Given the description of an element on the screen output the (x, y) to click on. 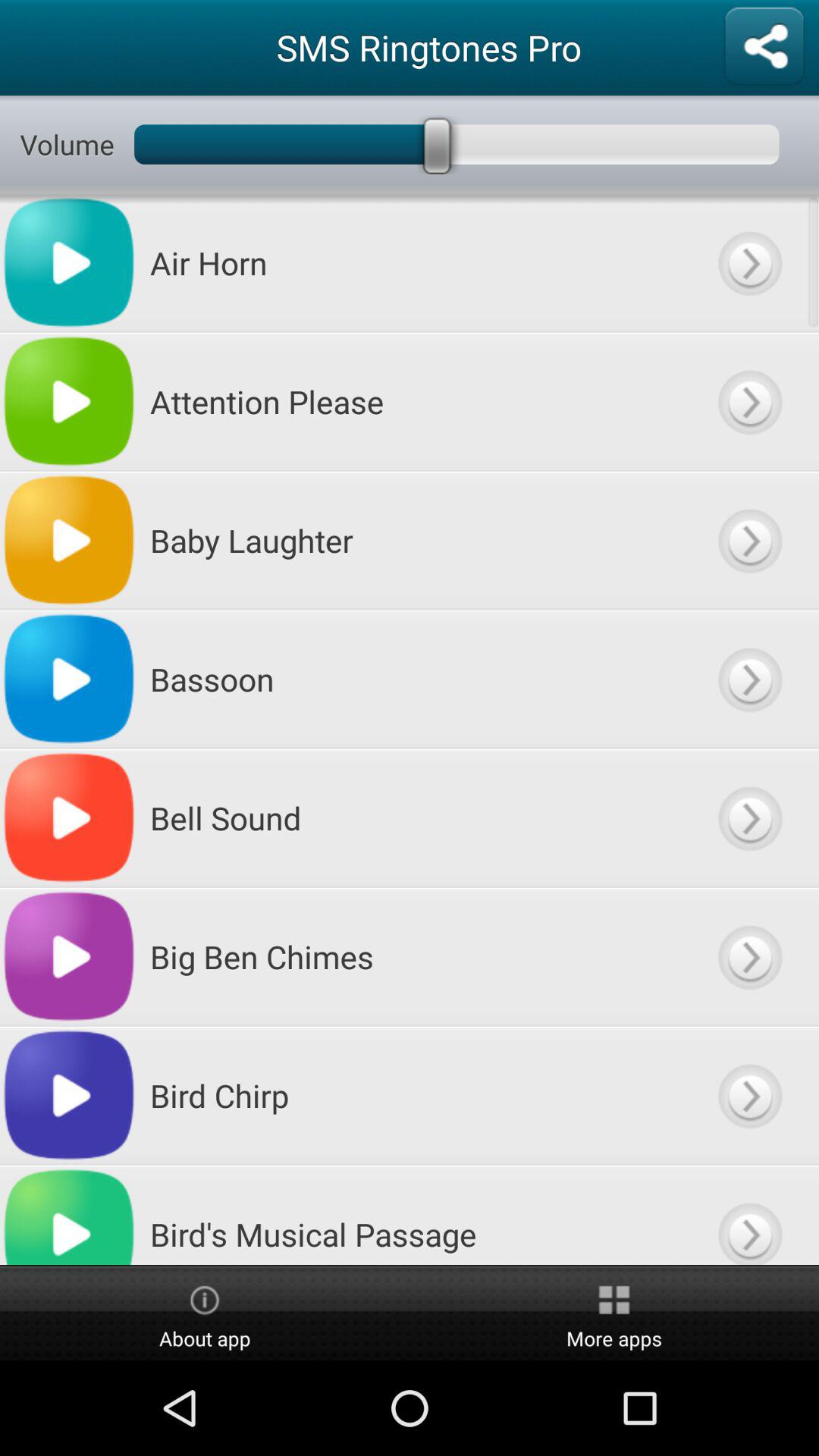
use big ben chimes (749, 956)
